Given the description of an element on the screen output the (x, y) to click on. 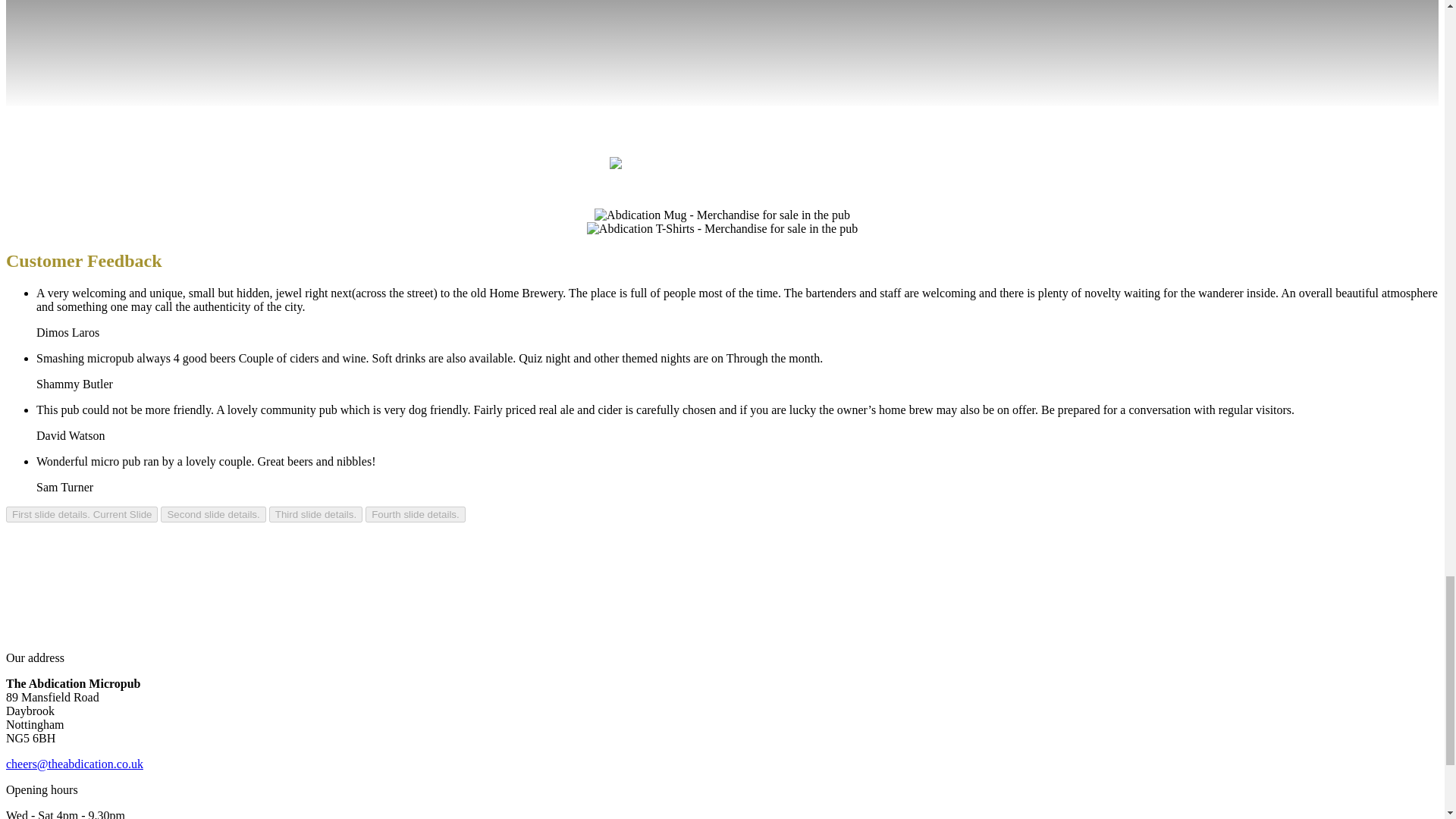
Third slide details. (315, 514)
Second slide details. (212, 514)
Fourth slide details. (415, 514)
First slide details. Current Slide (81, 514)
